Given the description of an element on the screen output the (x, y) to click on. 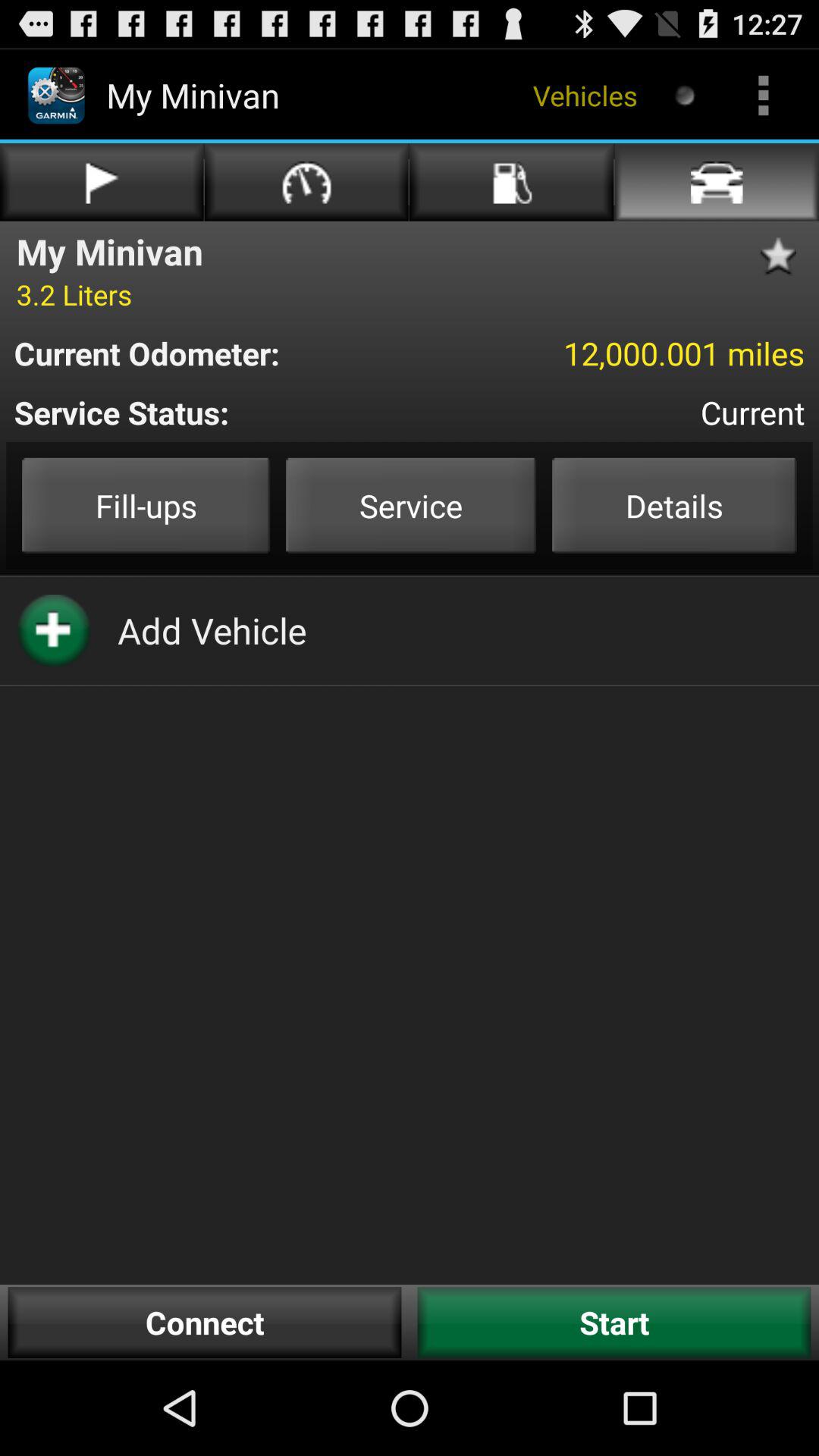
turn on add vehicle icon (211, 630)
